Given the description of an element on the screen output the (x, y) to click on. 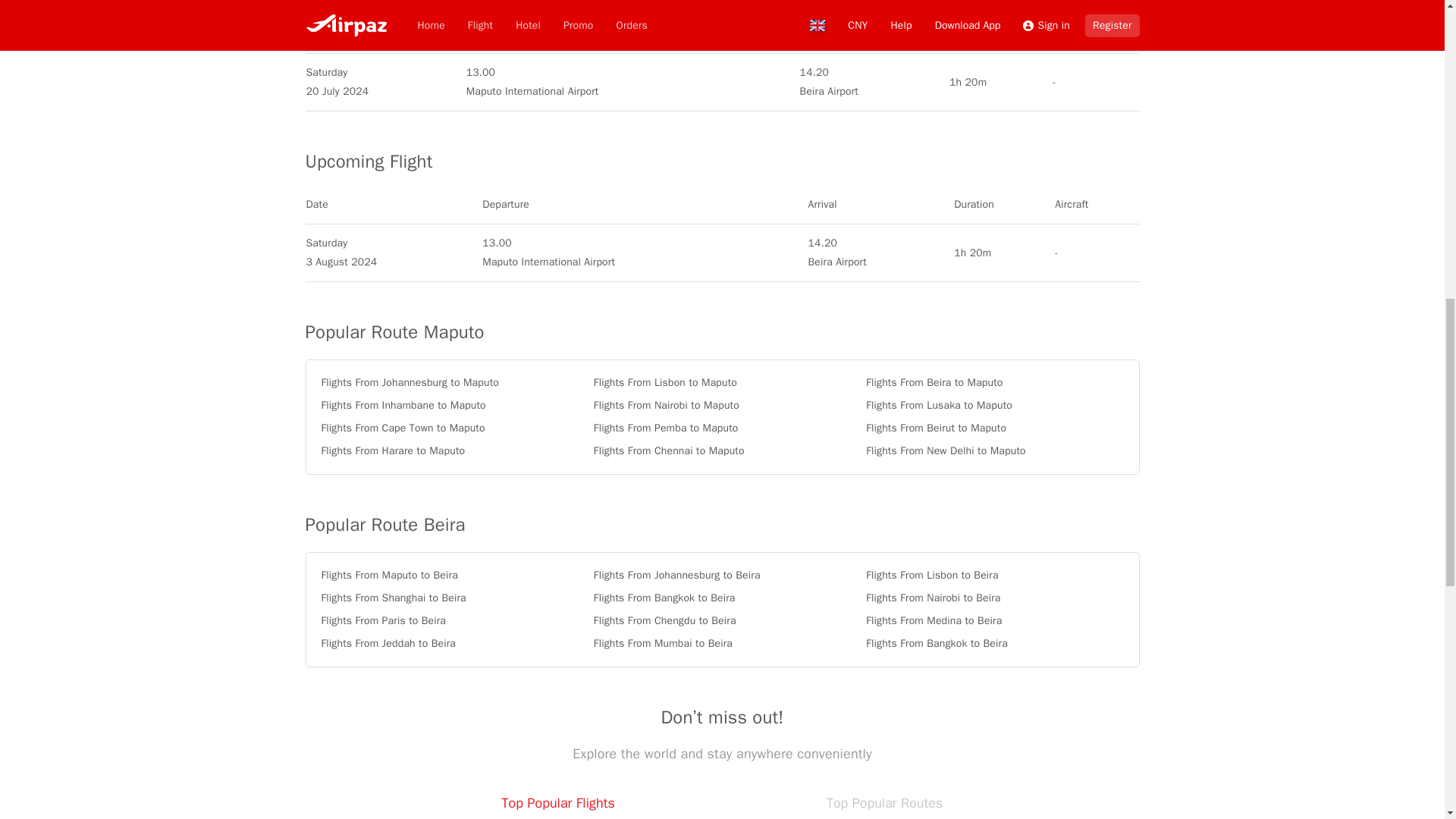
Flights From Johannesburg to Beira (722, 575)
Flights From Chengdu to Beira (722, 620)
Flights From Beirut to Maputo (994, 427)
Flights From Inhambane to Maputo (449, 405)
Flights From Harare to Maputo (449, 450)
Flights From Beira to Maputo (994, 382)
Flights From Bangkok to Beira (722, 598)
Flights From Maputo to Beira (449, 575)
Flights From Lusaka to Maputo (994, 405)
Flights From Lisbon to Beira (994, 575)
Flights From Shanghai to Beira (449, 598)
Flights From Paris to Beira (449, 620)
Flights From Pemba to Maputo (722, 427)
Flights From Johannesburg to Maputo (449, 382)
Flights From Cape Town to Maputo (449, 427)
